Given the description of an element on the screen output the (x, y) to click on. 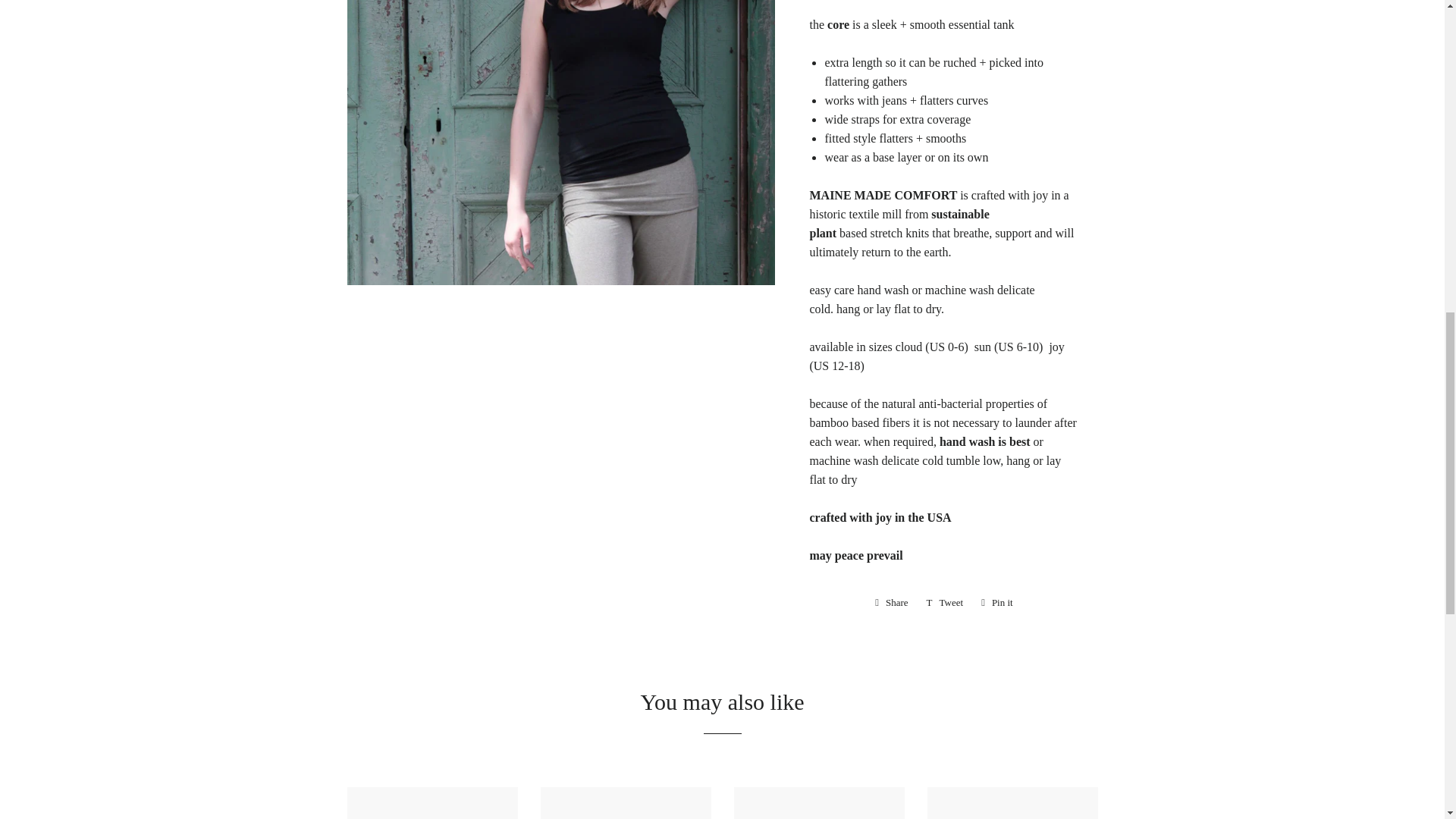
Tweet on Twitter (997, 602)
Pin on Pinterest (944, 602)
Share on Facebook (944, 602)
